Given the description of an element on the screen output the (x, y) to click on. 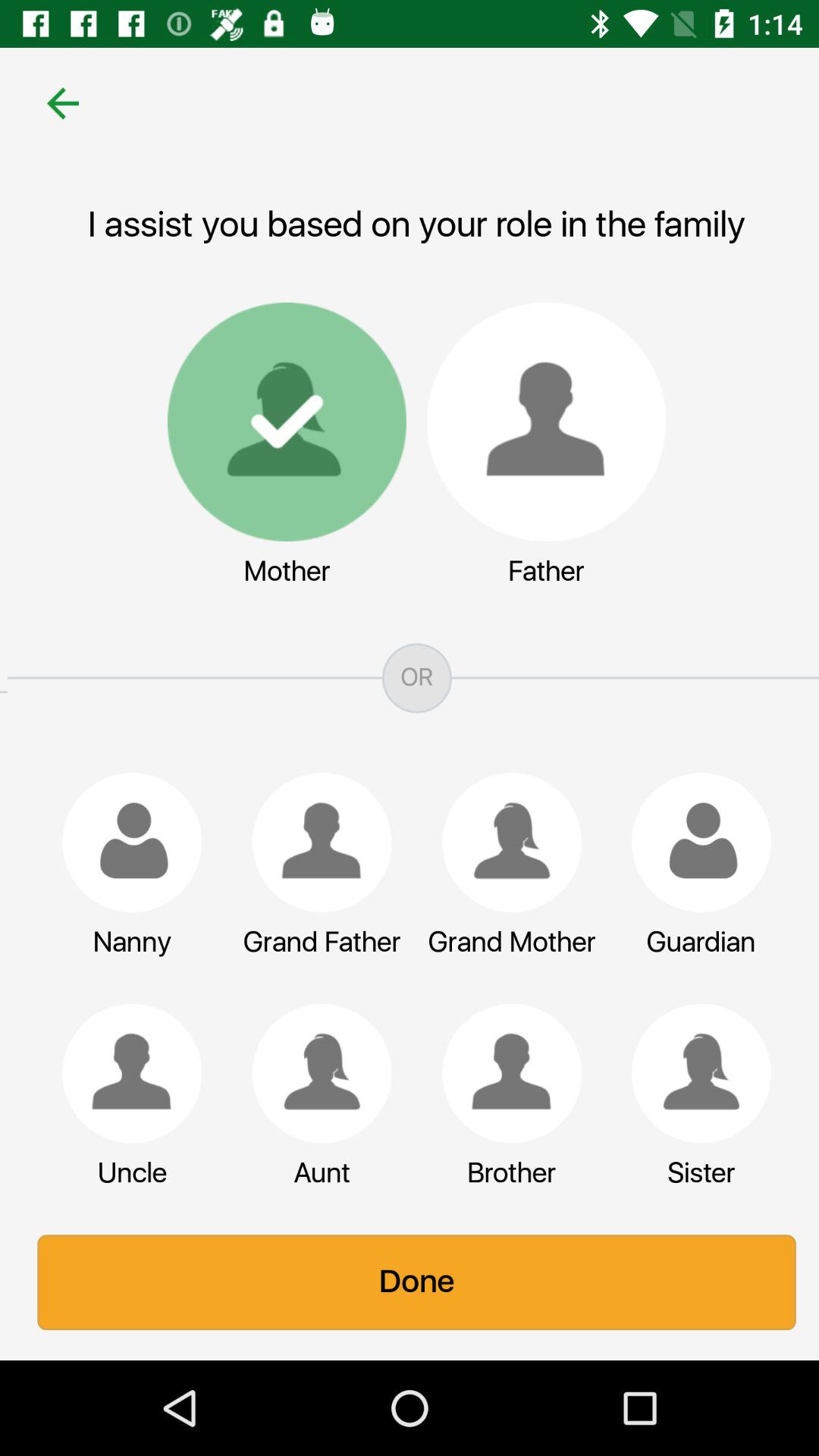
tap the icon below guardian icon (693, 1073)
